Given the description of an element on the screen output the (x, y) to click on. 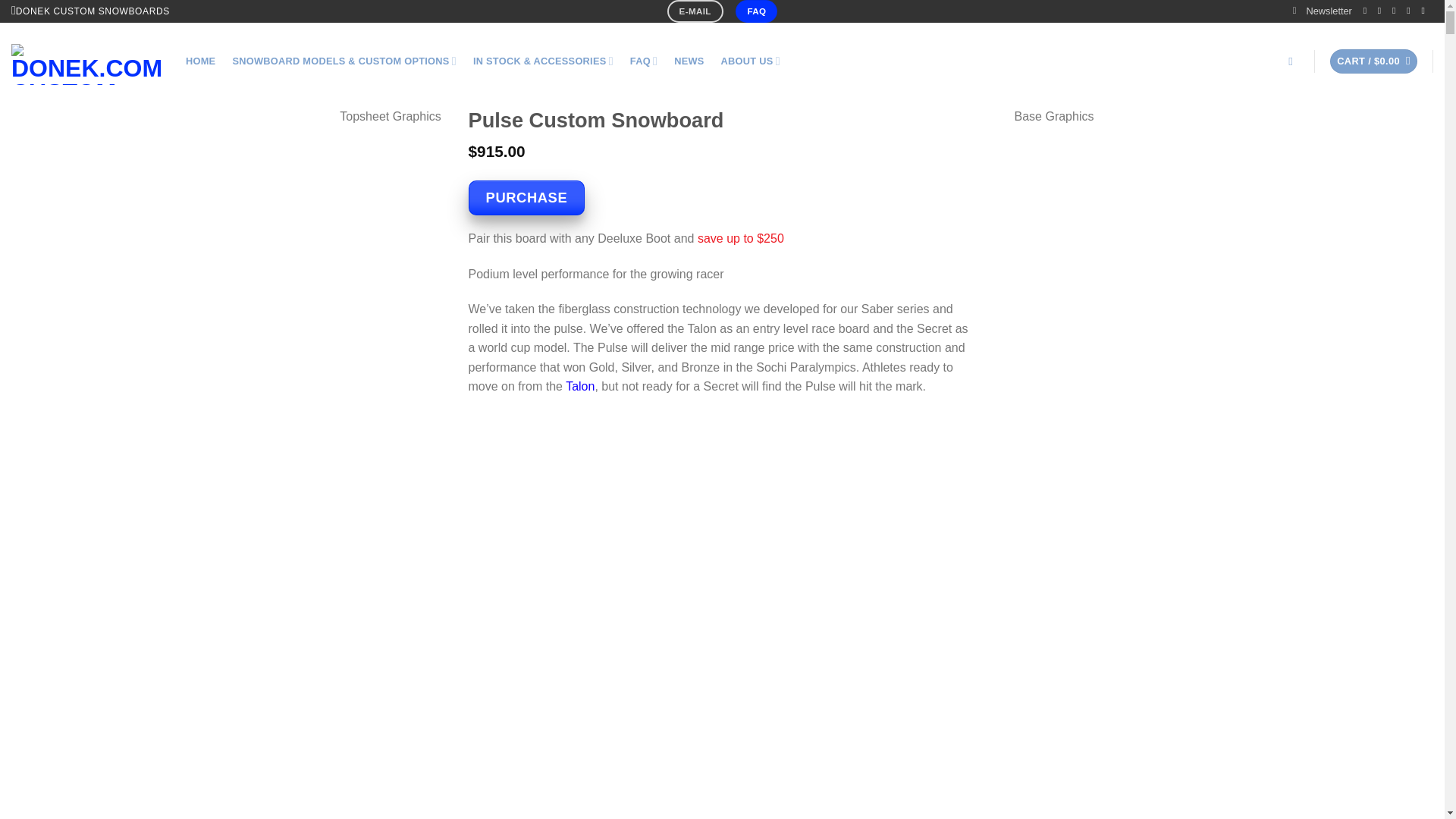
Newsletter (1322, 11)
FAQ (756, 11)
HOME (200, 60)
Sign up to get the latest on Donek (1322, 11)
E-MAIL (694, 11)
Pilot (580, 386)
Cart (1373, 61)
